Given the description of an element on the screen output the (x, y) to click on. 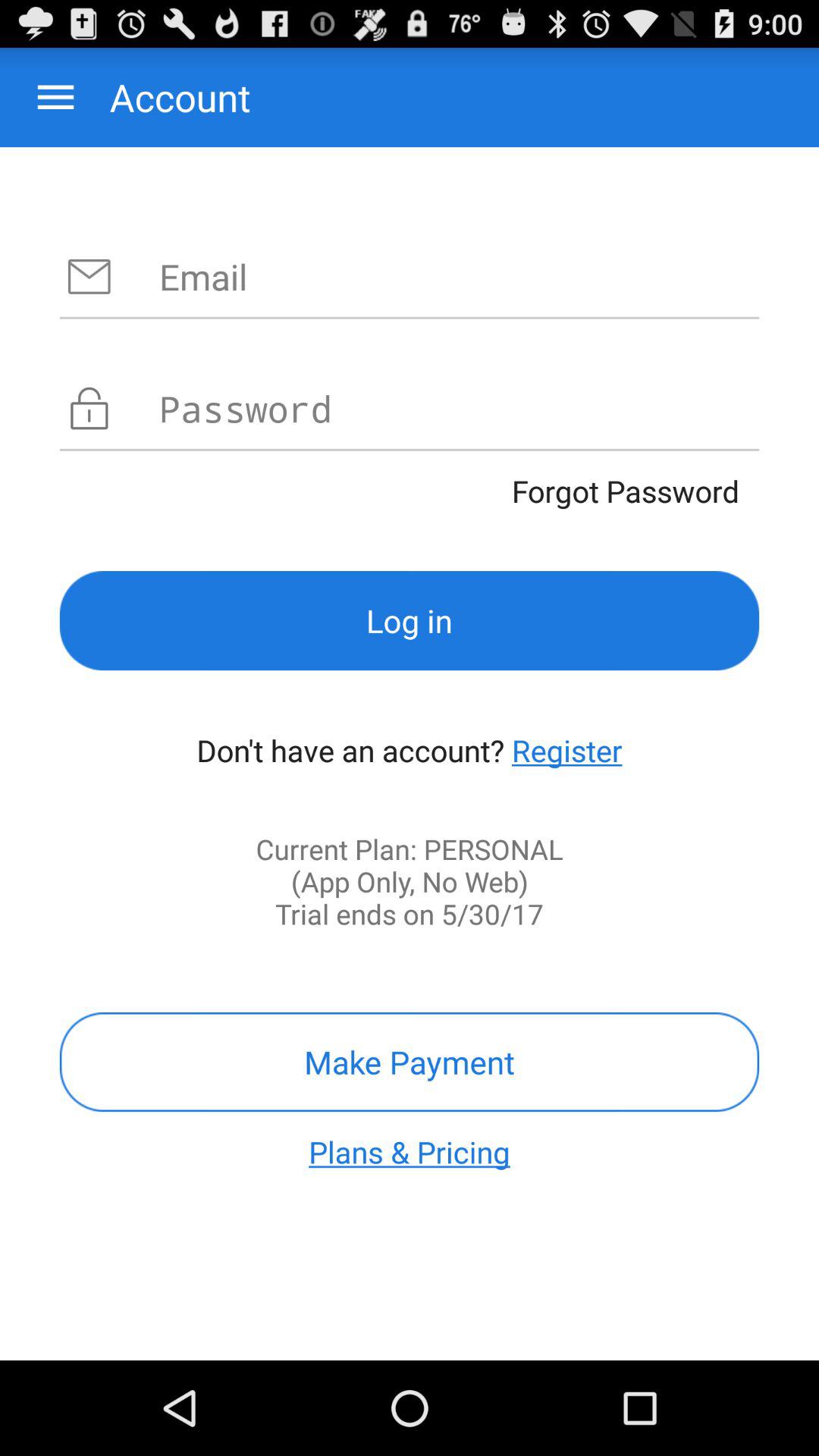
launch item above plans & pricing (409, 1061)
